Given the description of an element on the screen output the (x, y) to click on. 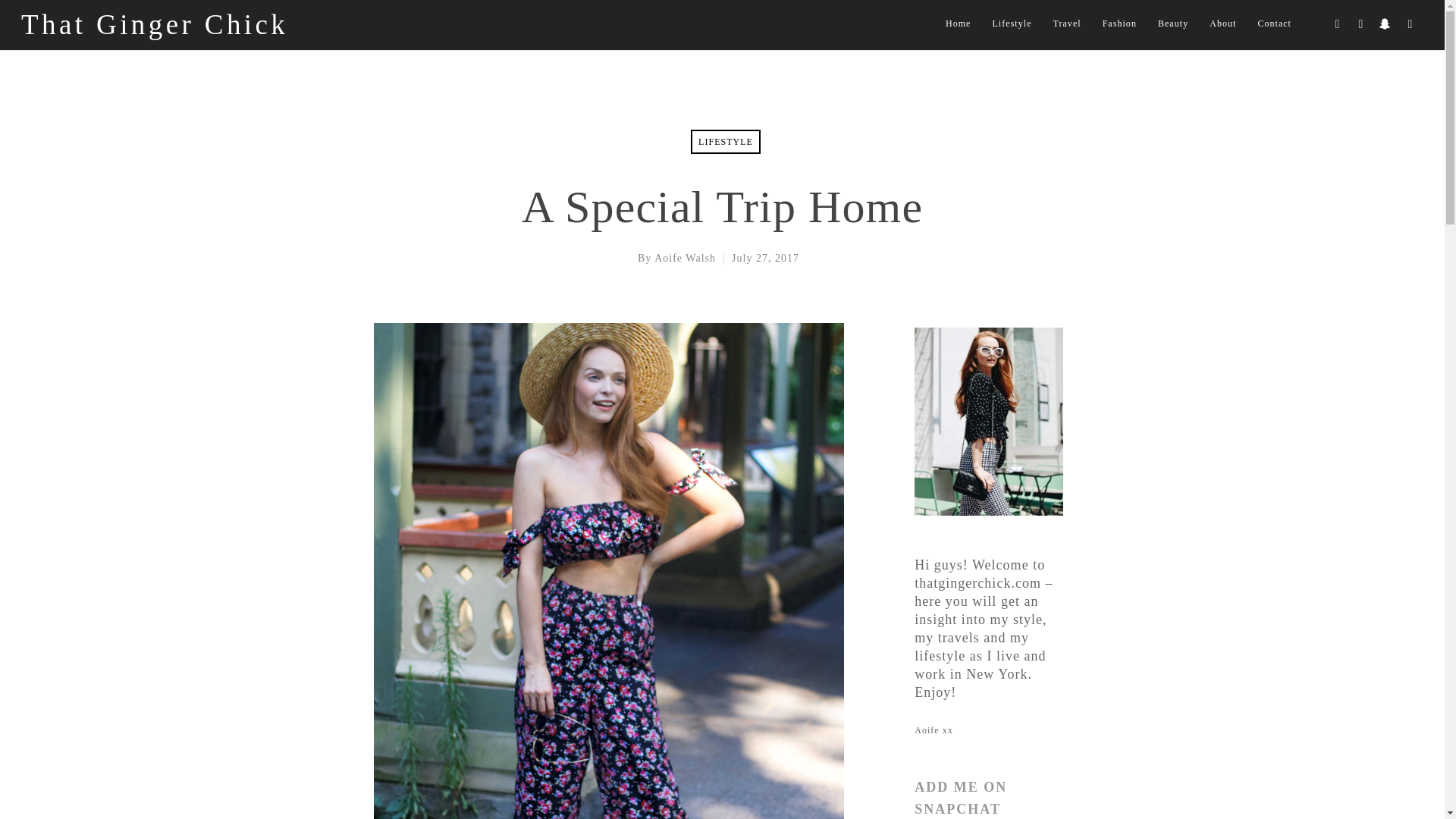
Home (958, 29)
That Ginger Chick (154, 24)
Lifestyle (1012, 29)
Beauty (1173, 29)
Aoife Walsh (684, 257)
Travel (1066, 29)
Posts by Aoife Walsh (684, 257)
About (1222, 29)
LIFESTYLE (725, 141)
Contact (1274, 29)
Fashion (1120, 29)
